Given the description of an element on the screen output the (x, y) to click on. 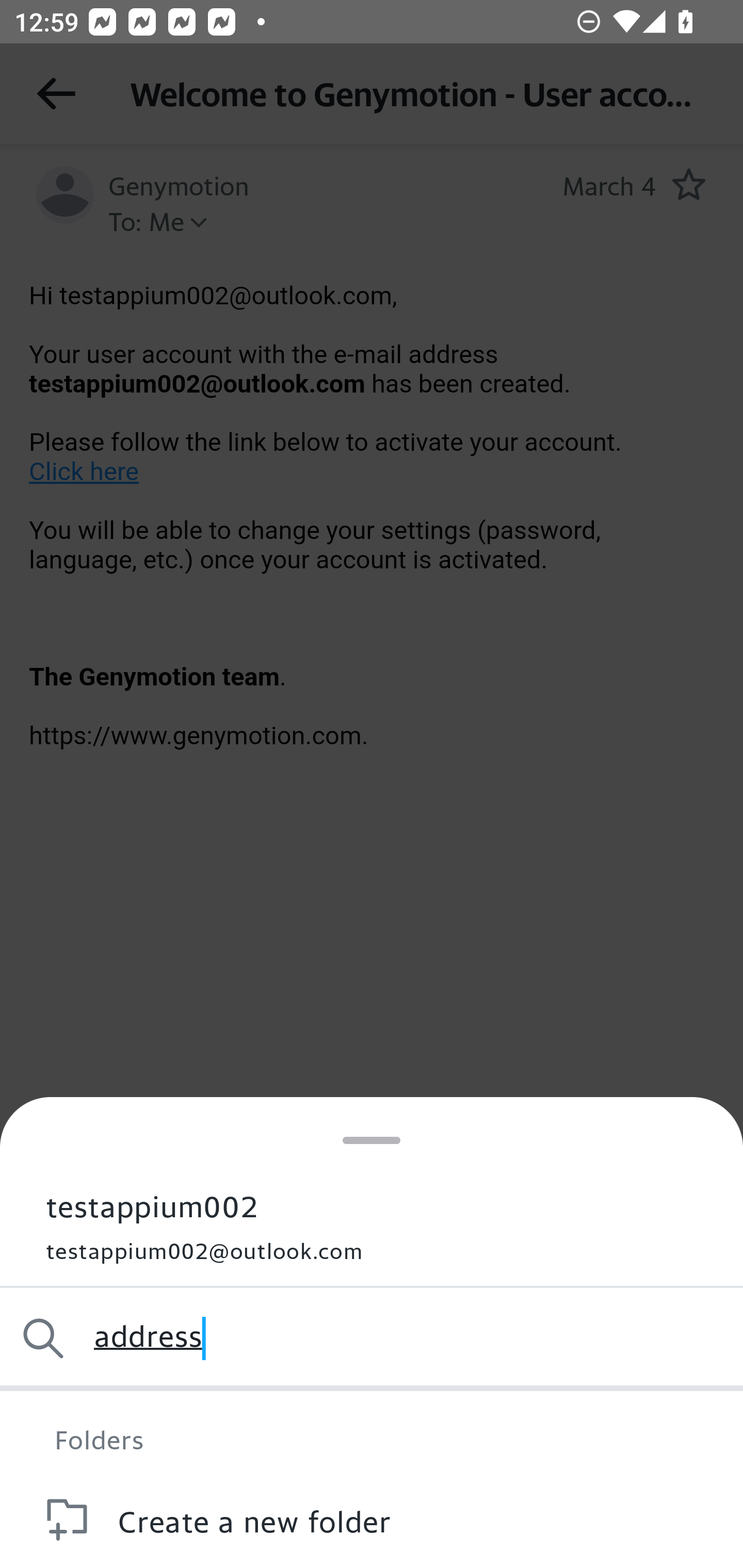
address (371, 1338)
Create a new folder (371, 1519)
